Given the description of an element on the screen output the (x, y) to click on. 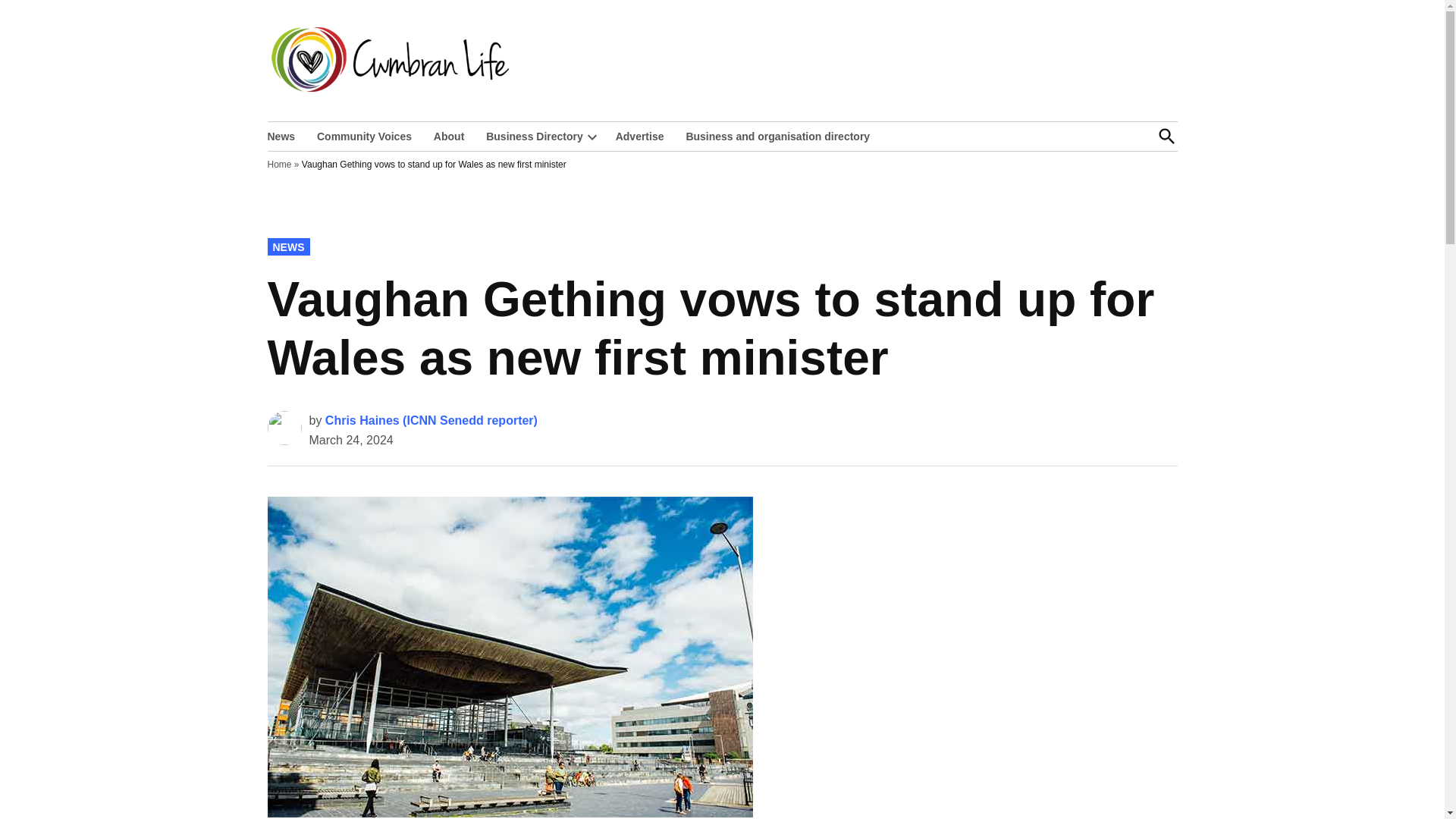
Business and organisation directory (777, 135)
Advertise (639, 135)
Community Voices (363, 135)
Business and organisation directory (777, 135)
Home (278, 163)
Business Directory (531, 135)
NEWS (287, 246)
Cwmbranlife (573, 70)
About (448, 135)
Open dropdown menu (592, 136)
